Given the description of an element on the screen output the (x, y) to click on. 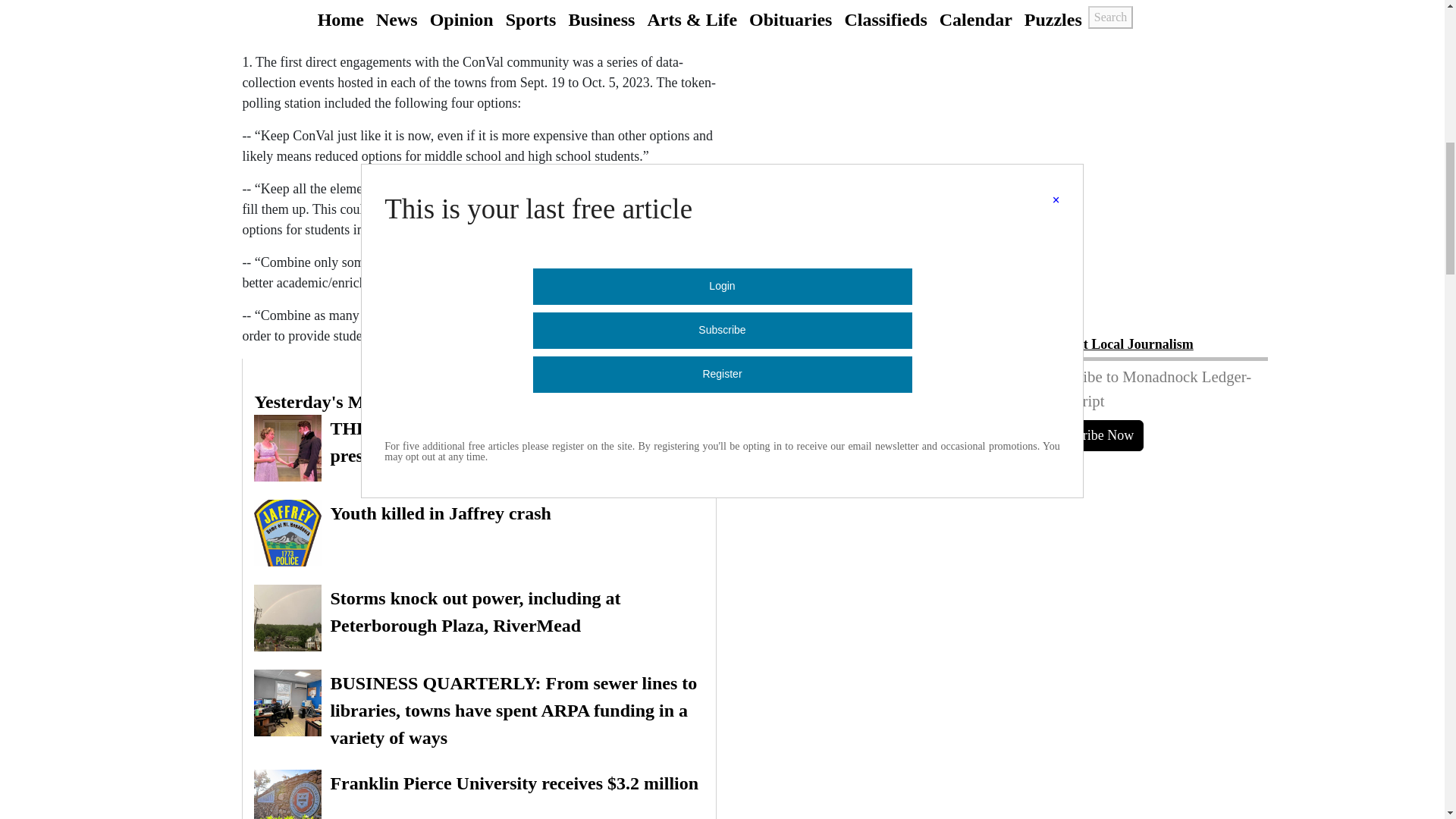
Youth killed in Jaffrey crash (478, 532)
